Given the description of an element on the screen output the (x, y) to click on. 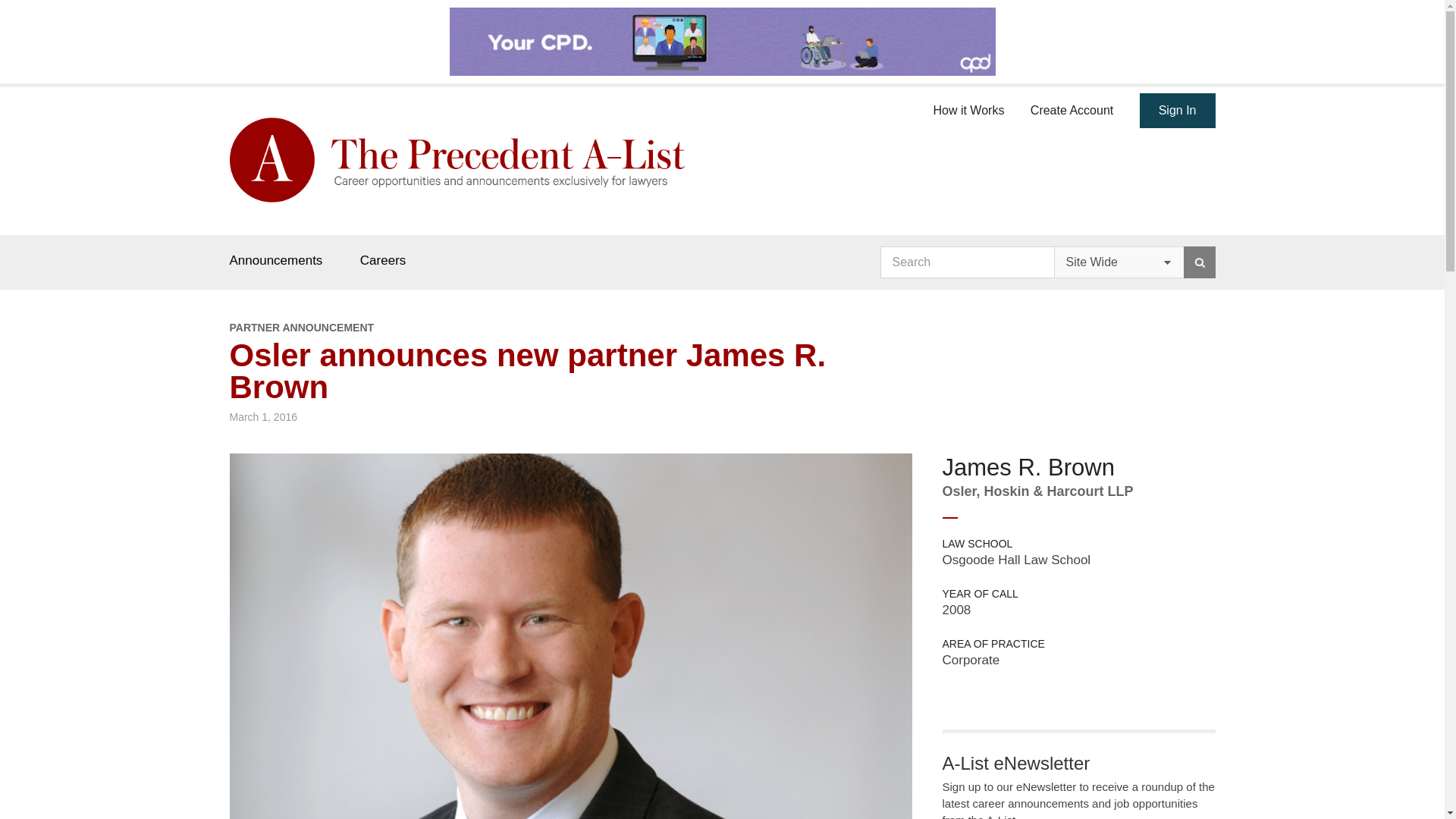
Announcements (274, 260)
PARTNER ANNOUNCEMENT (569, 327)
How it Works (968, 107)
Sign In (1177, 110)
Create Account (1071, 107)
Careers (382, 260)
